Given the description of an element on the screen output the (x, y) to click on. 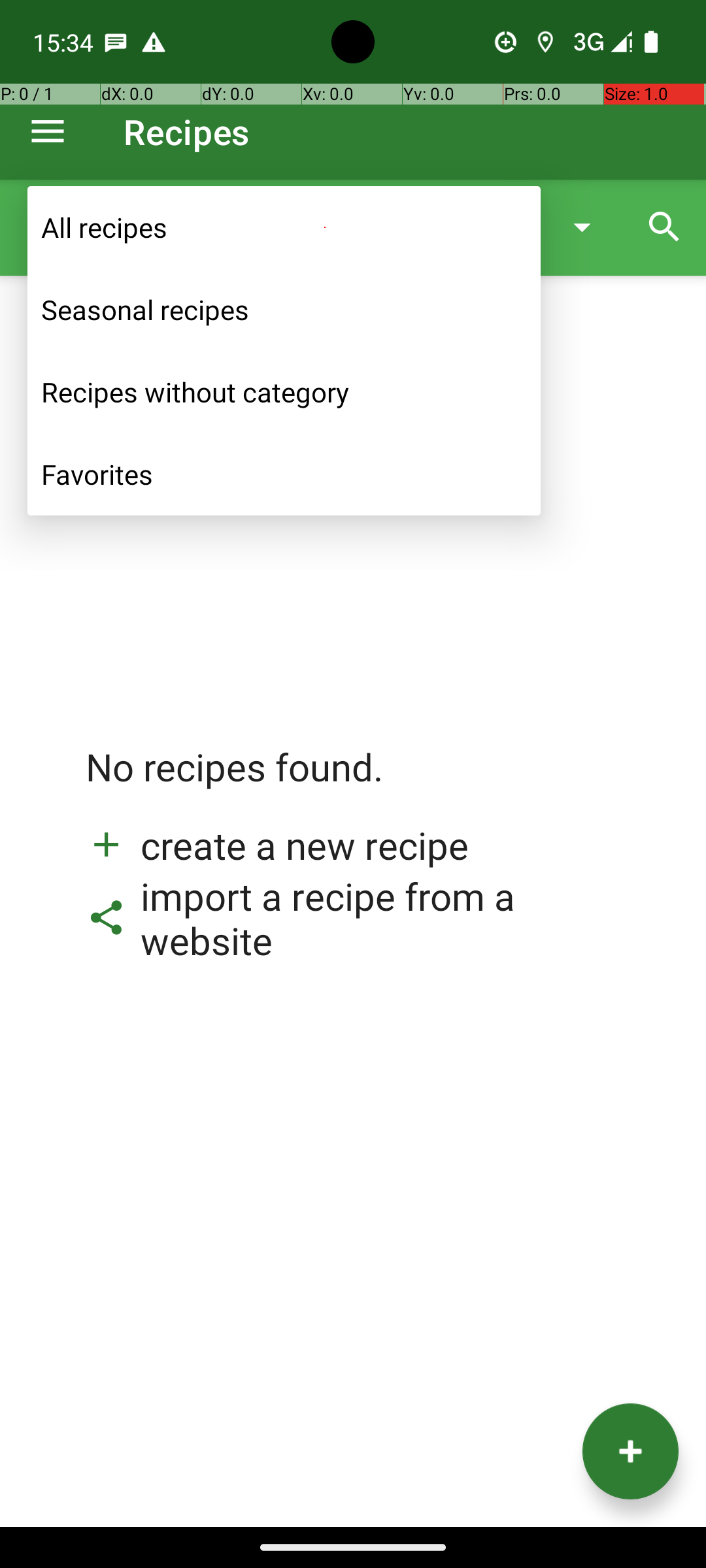
Seasonal recipes Element type: android.widget.CheckedTextView (283, 309)
Recipes without category Element type: android.widget.CheckedTextView (283, 391)
